Given the description of an element on the screen output the (x, y) to click on. 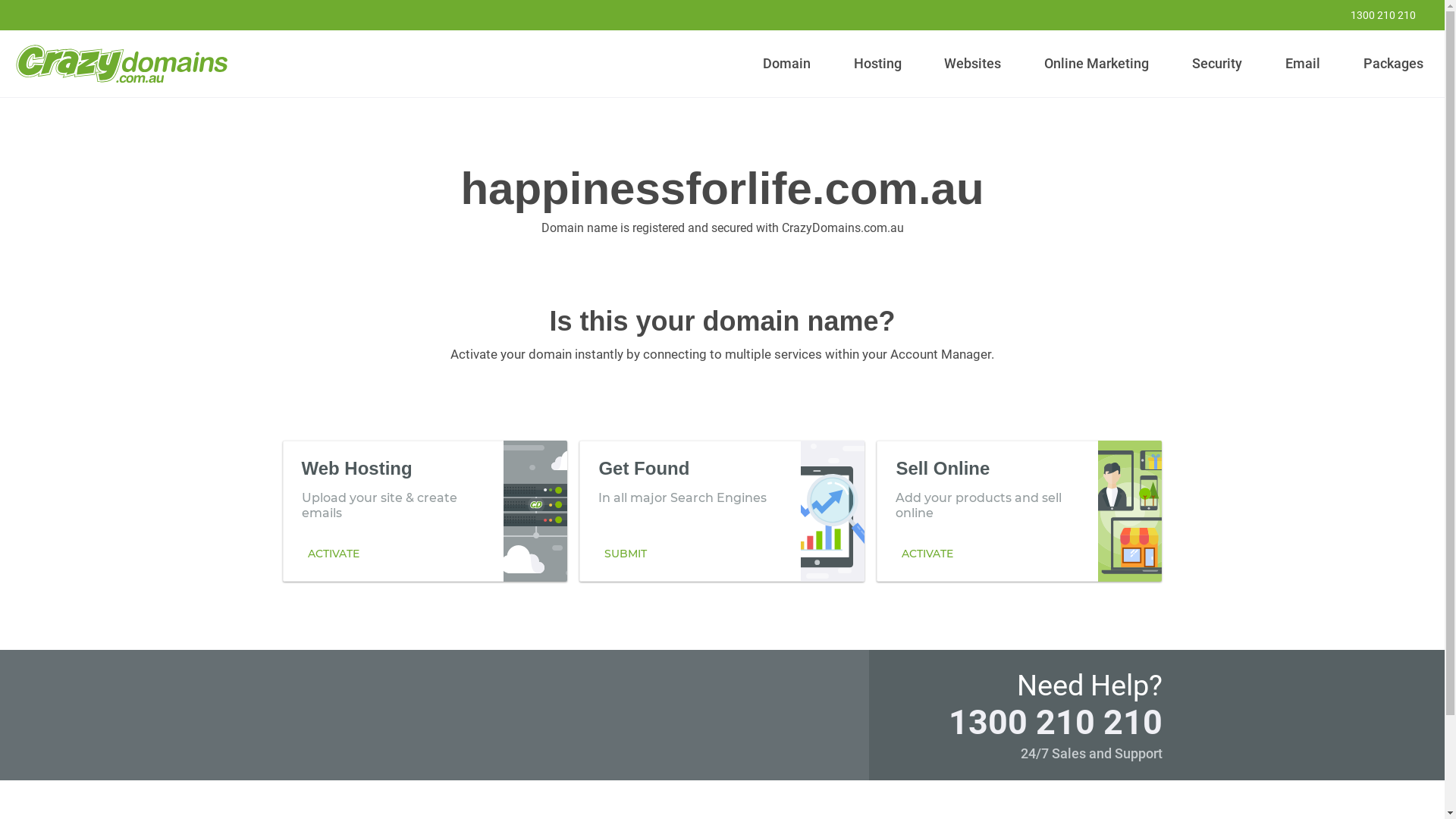
Packages Element type: text (1392, 63)
Hosting Element type: text (877, 63)
Websites Element type: text (972, 63)
Get Found
In all major Search Engines
SUBMIT Element type: text (721, 509)
Online Marketing Element type: text (1096, 63)
Email Element type: text (1302, 63)
Web Hosting
Upload your site & create emails
ACTIVATE Element type: text (424, 509)
Sell Online
Add your products and sell online
ACTIVATE Element type: text (1018, 509)
1300 210 210 Element type: text (1373, 15)
Security Element type: text (1217, 63)
Domain Element type: text (786, 63)
1300 210 210 Element type: text (1054, 722)
